Given the description of an element on the screen output the (x, y) to click on. 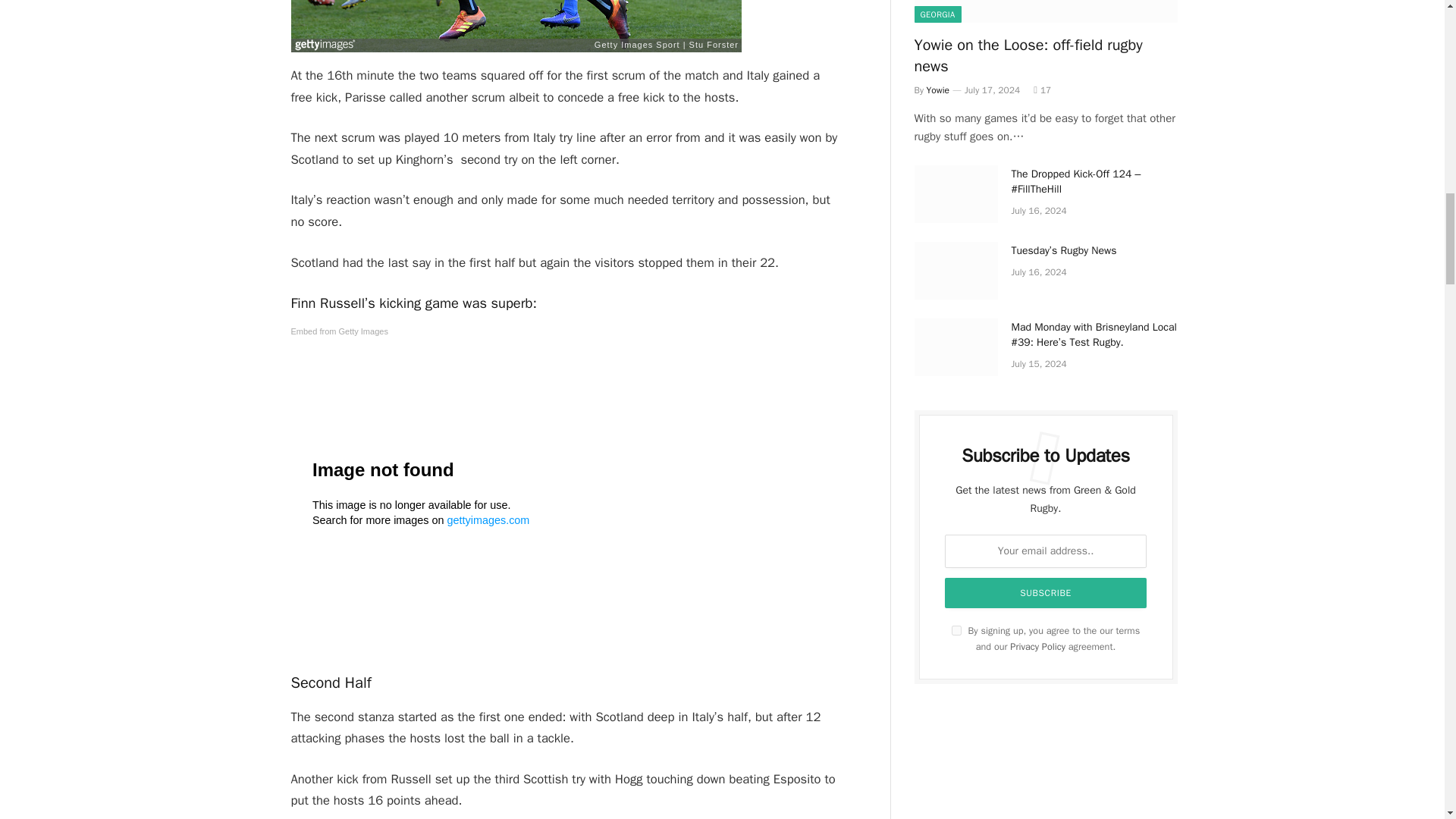
on (956, 630)
Subscribe (1045, 593)
